Given the description of an element on the screen output the (x, y) to click on. 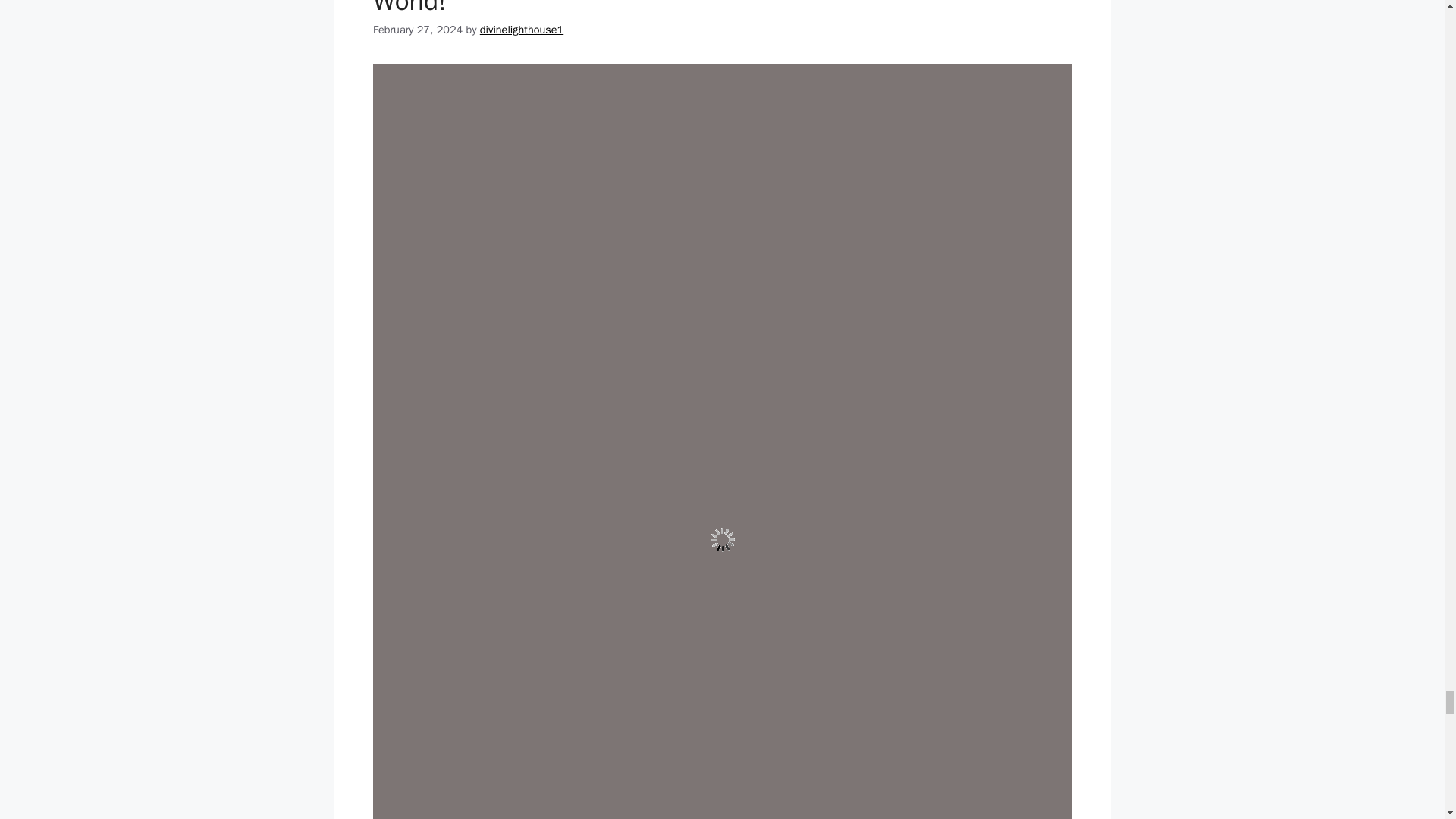
View all posts by divinelighthouse1 (521, 29)
